Given the description of an element on the screen output the (x, y) to click on. 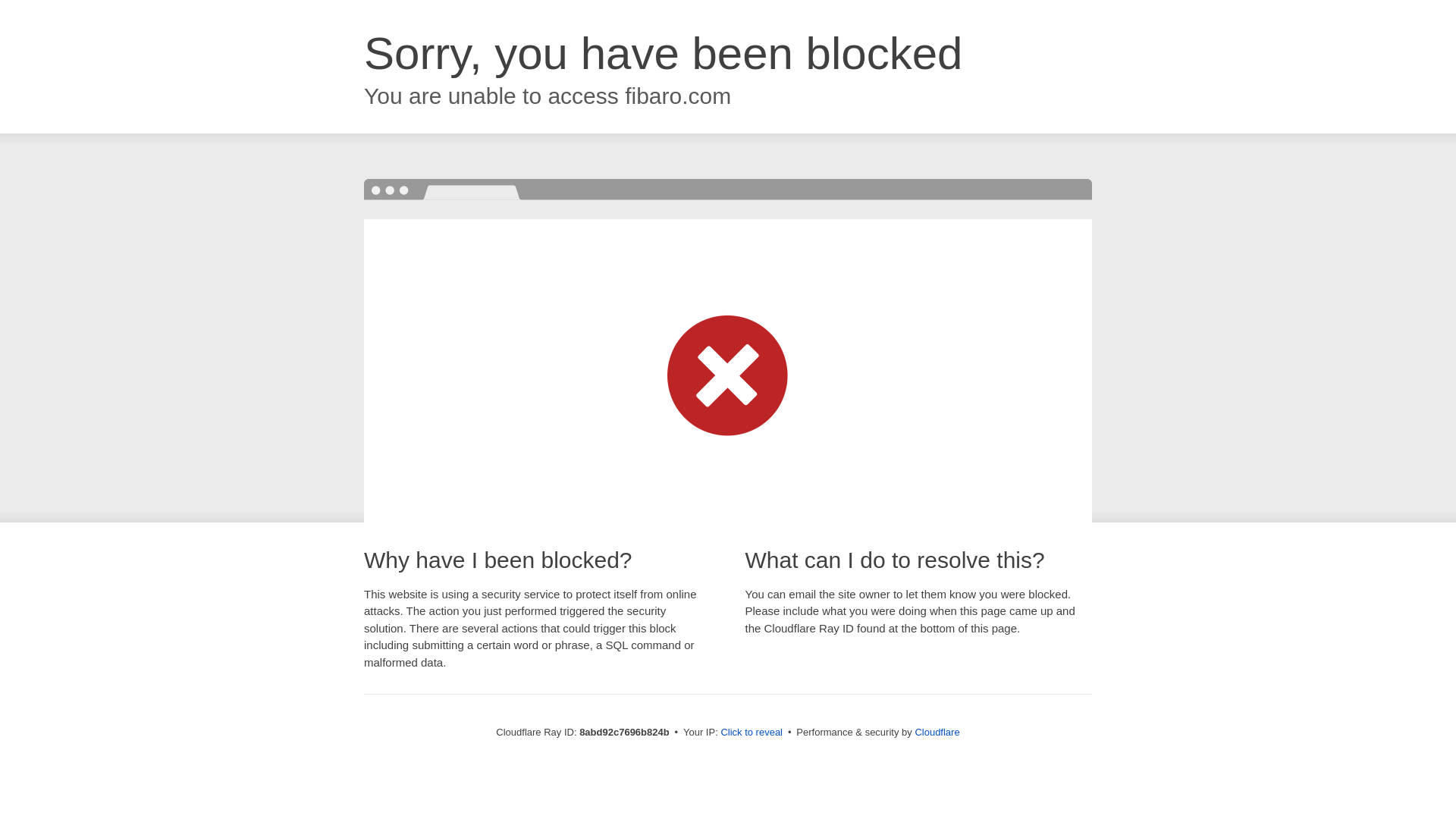
Cloudflare (936, 731)
Click to reveal (751, 732)
